Given the description of an element on the screen output the (x, y) to click on. 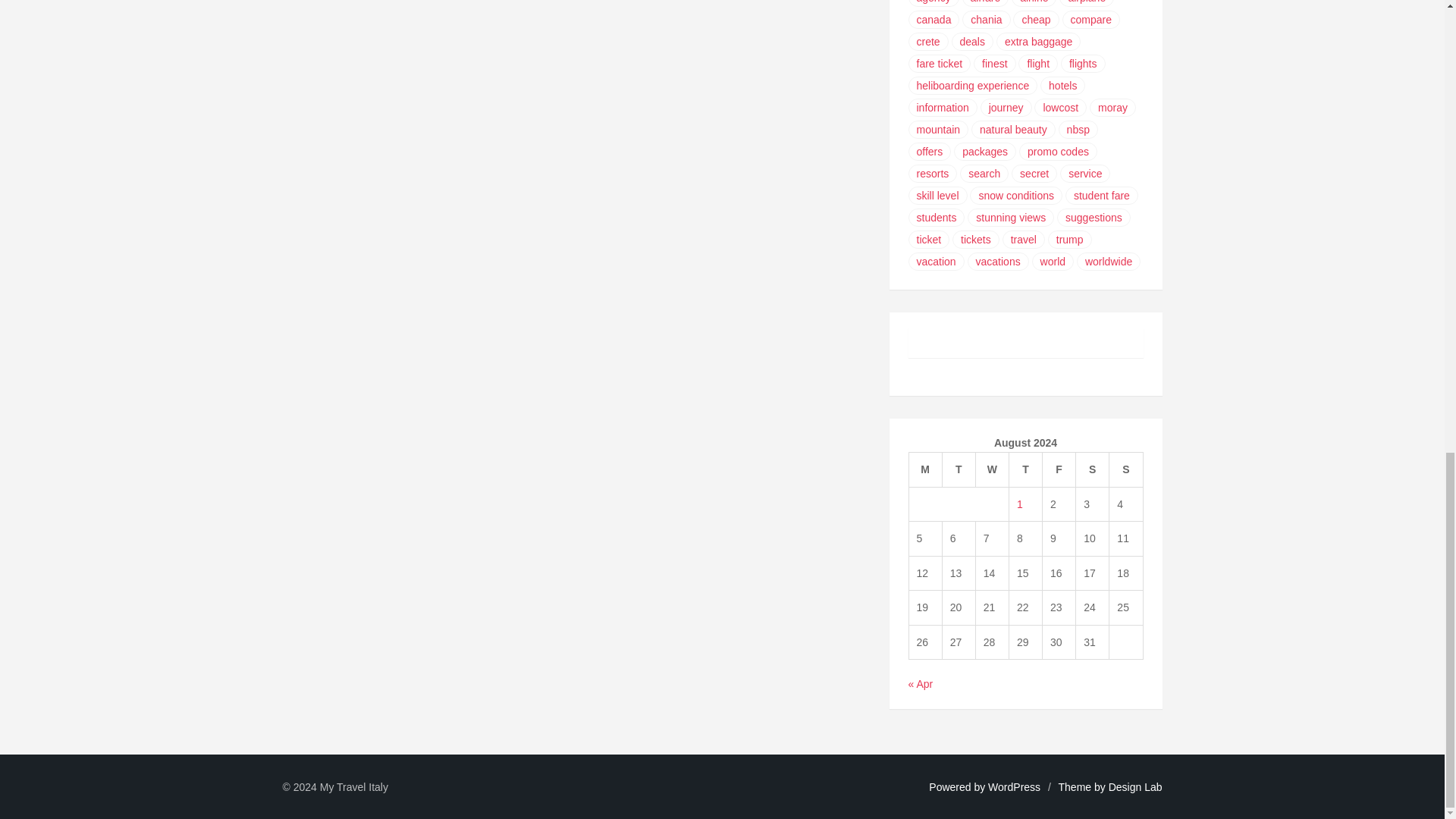
Wednesday (992, 469)
Friday (1058, 469)
Sunday (1125, 469)
Monday (925, 469)
Tuesday (958, 469)
Saturday (1092, 469)
Thursday (1025, 469)
